Given the description of an element on the screen output the (x, y) to click on. 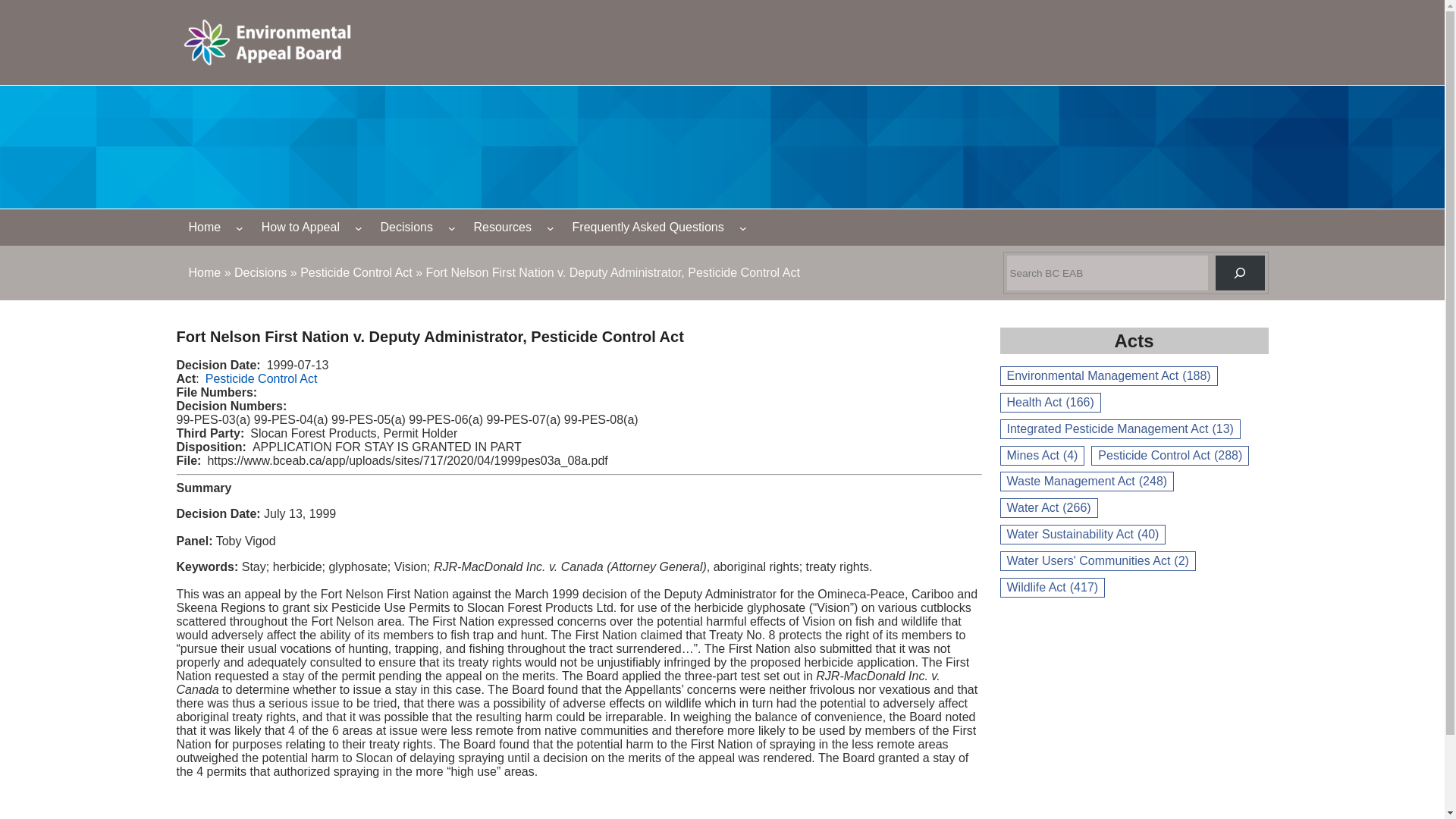
Decisions (406, 227)
Resources (502, 227)
Home (204, 272)
Pesticide Control Act (261, 378)
How to Appeal (300, 227)
Decisions (260, 272)
Decisions (260, 272)
Pesticide Control Act (355, 272)
Home (204, 272)
Frequently Asked Questions (648, 227)
